Given the description of an element on the screen output the (x, y) to click on. 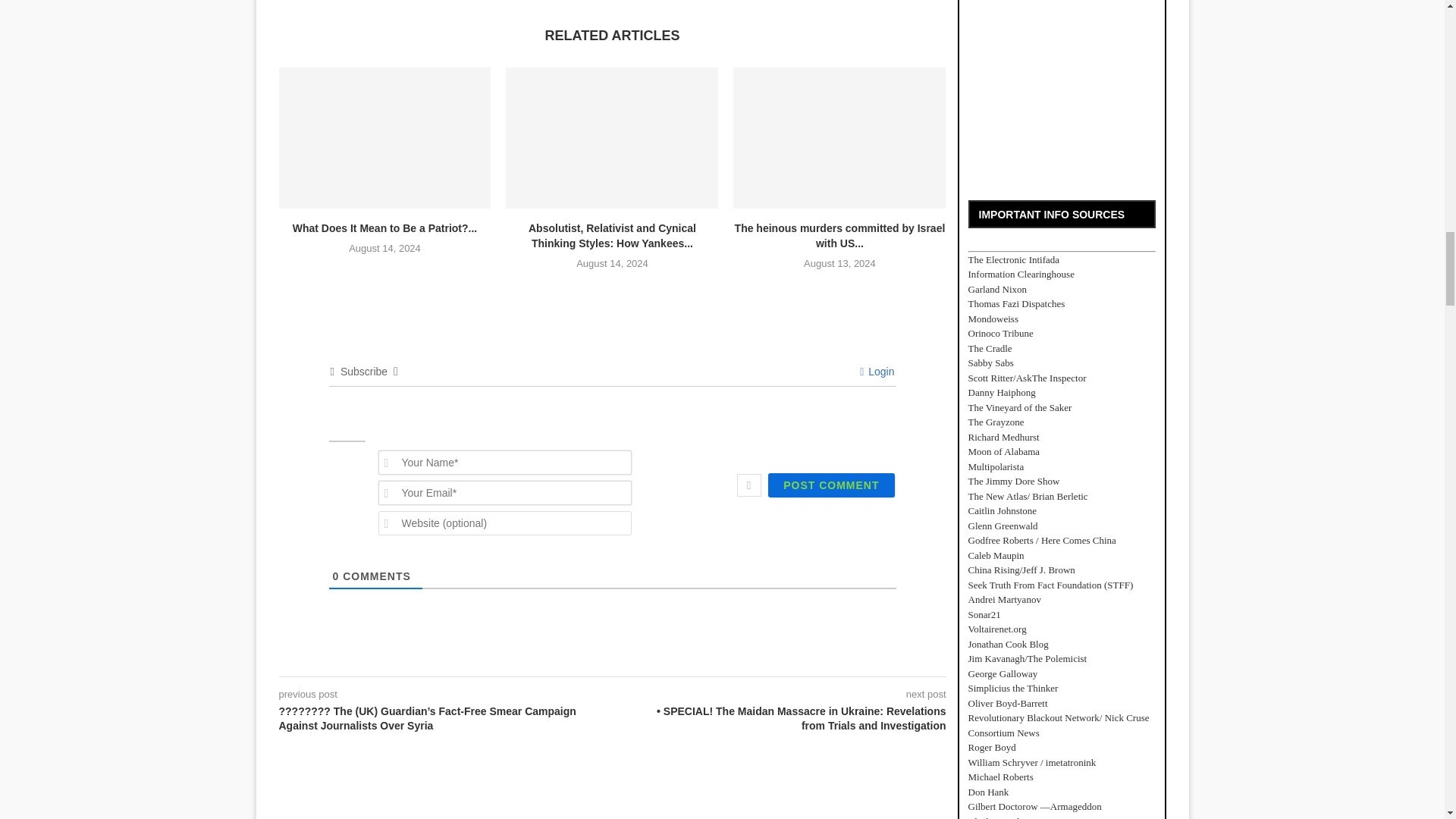
Post Comment (830, 485)
What Does It Mean to Be a Patriot? The Case of Scott Ritter (385, 138)
